Given the description of an element on the screen output the (x, y) to click on. 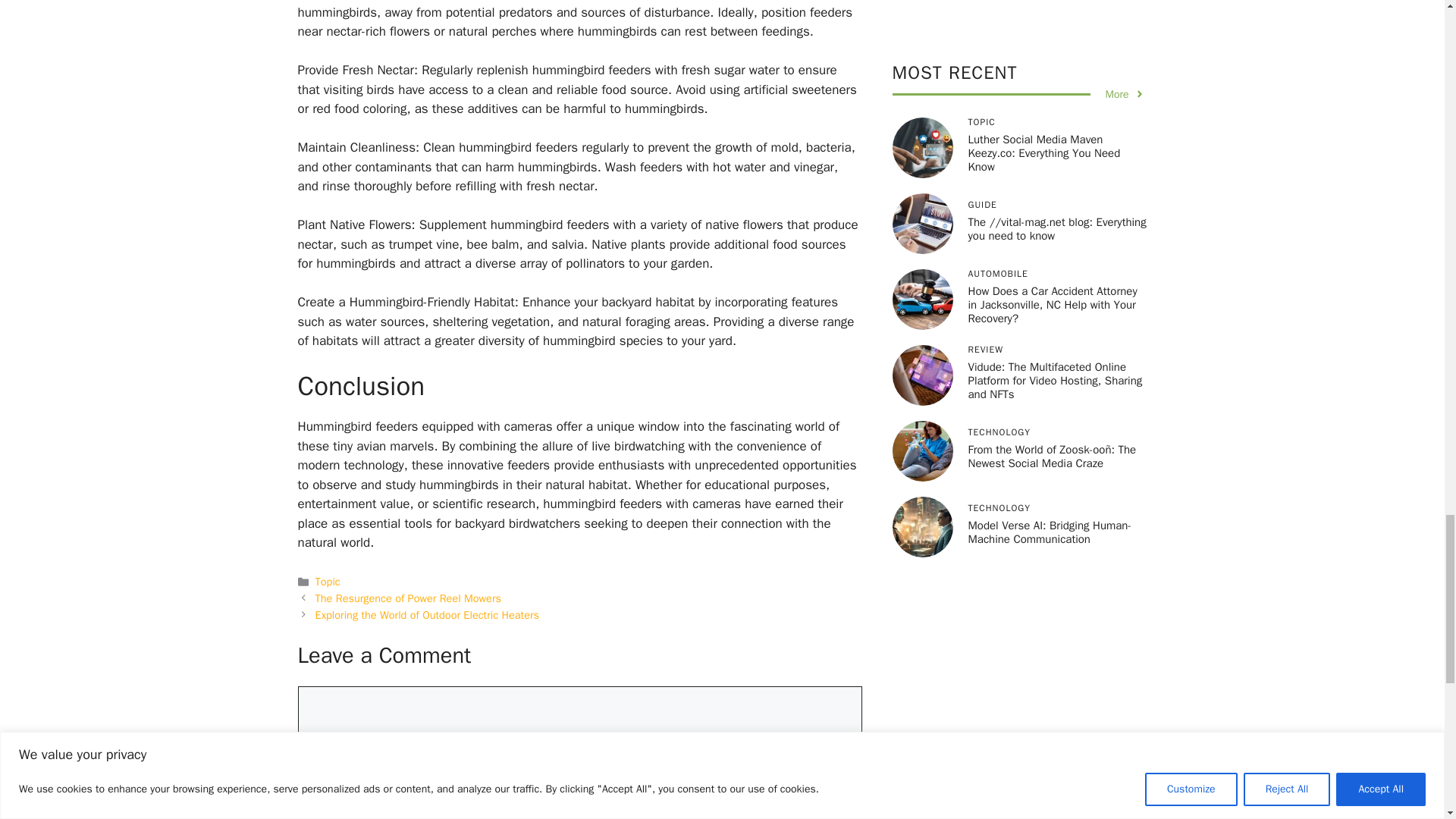
Topic (327, 581)
The Resurgence of Power Reel Mowers (407, 598)
